Given the description of an element on the screen output the (x, y) to click on. 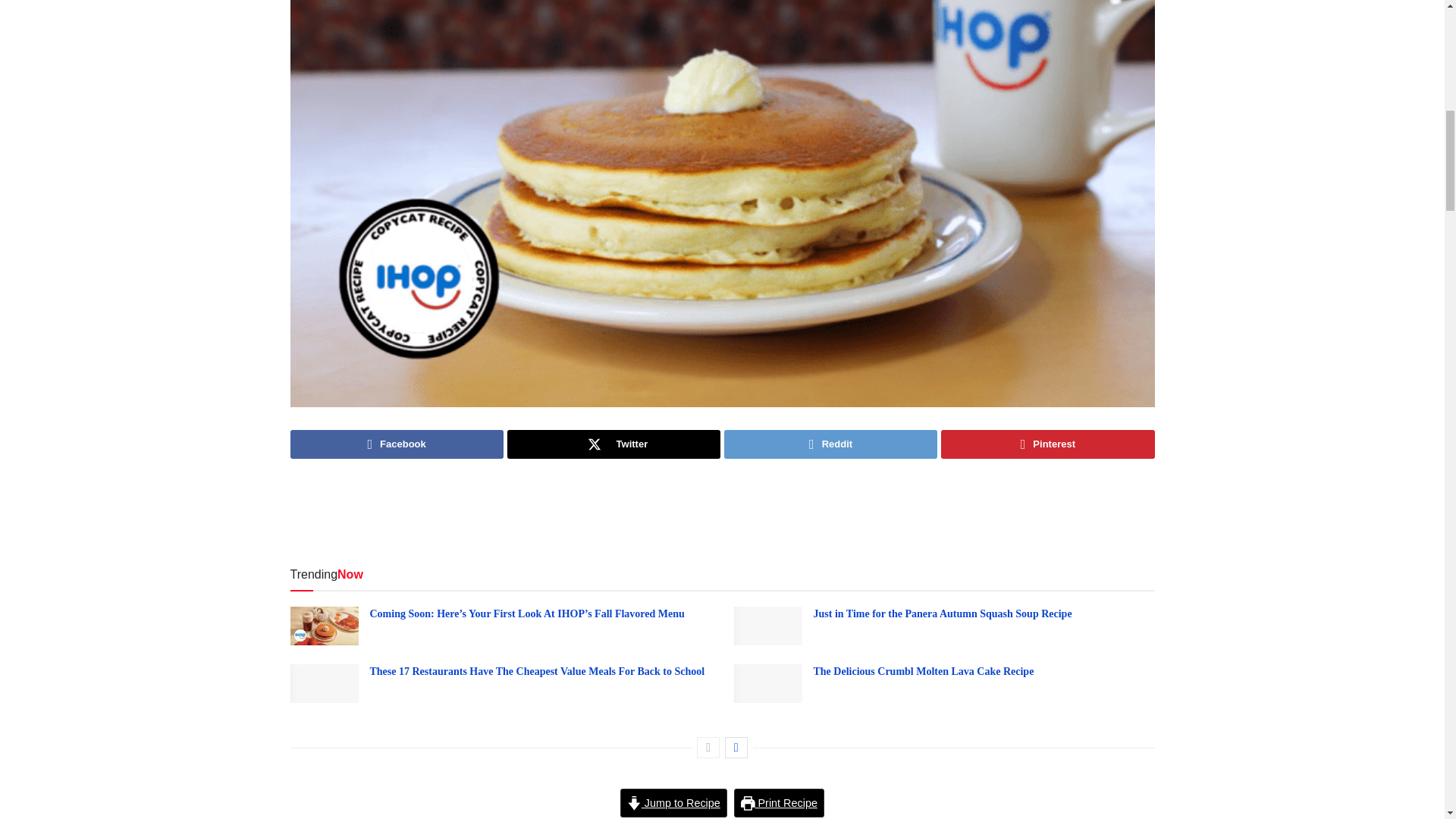
Just in Time for the Panera Autumn Squash Soup Recipe (941, 613)
Pinterest (1047, 443)
Reddit (830, 443)
Previous (708, 747)
Twitter (613, 443)
Next (736, 747)
Facebook (395, 443)
